Given the description of an element on the screen output the (x, y) to click on. 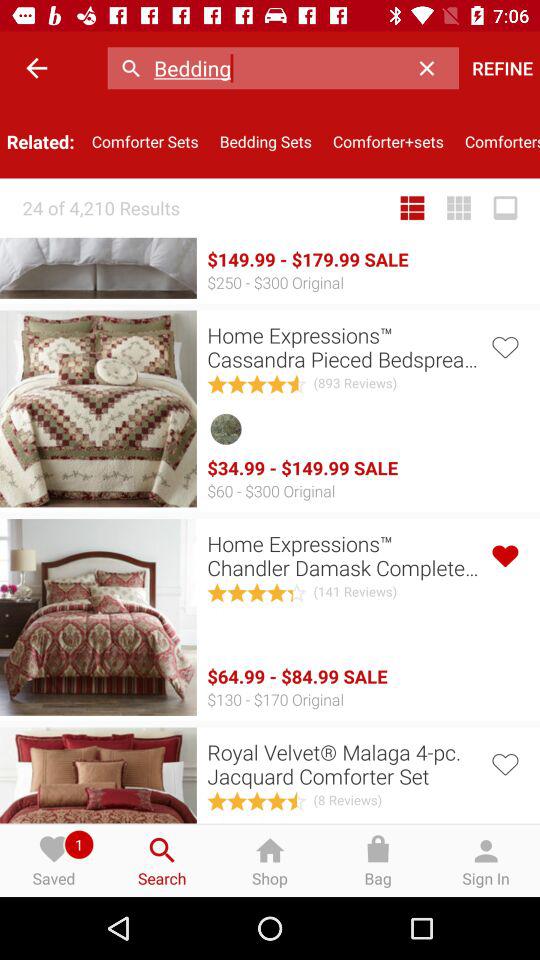
launch the item next to 24 of 4 item (412, 208)
